Given the description of an element on the screen output the (x, y) to click on. 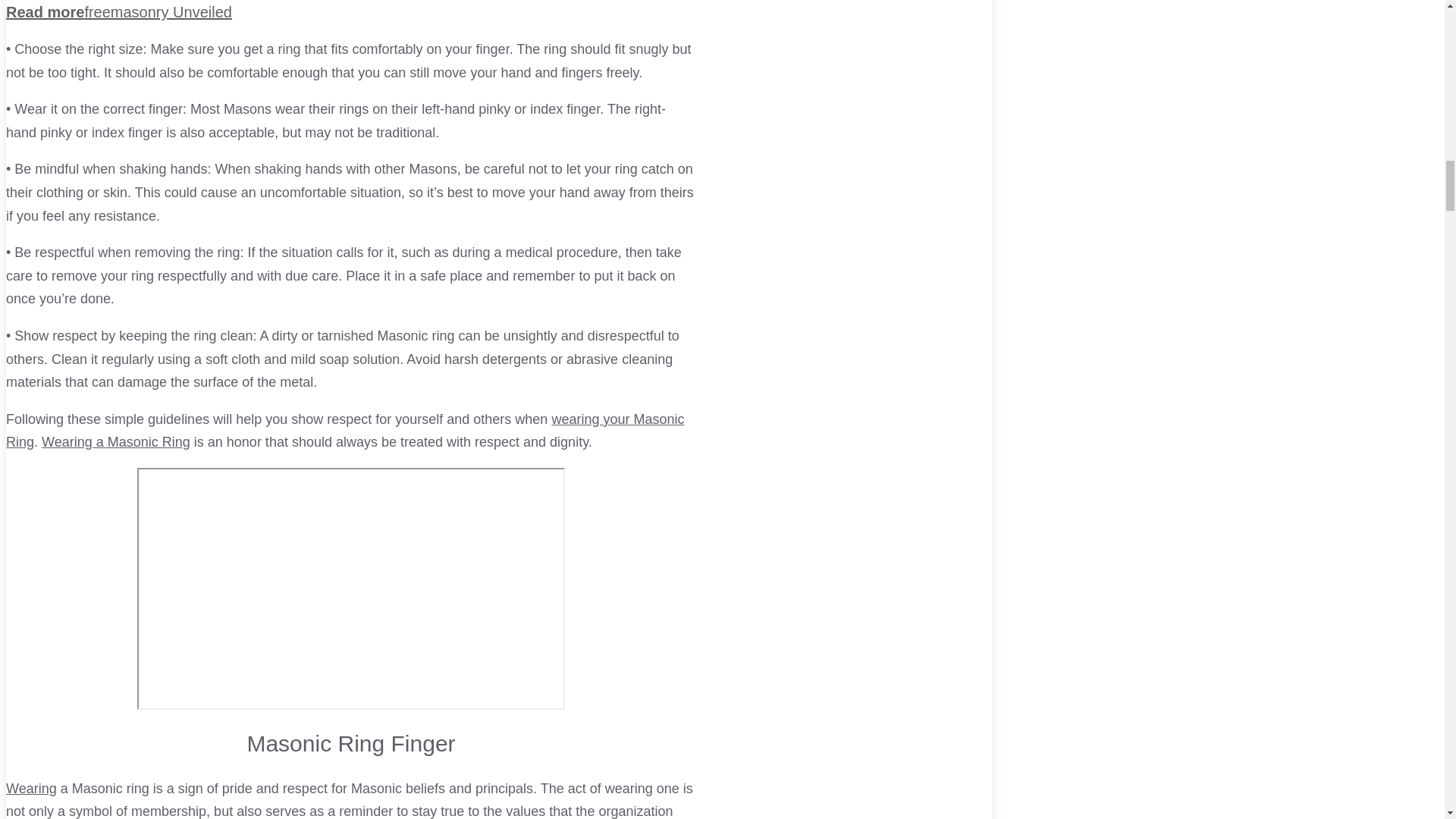
The Free Masons Ring (30, 788)
Wearing a Masonic Ring (116, 441)
Read morefreemasonry Unveiled (350, 12)
wearing your Masonic Ring (344, 430)
YouTube video player (350, 588)
Wearing (30, 788)
How Do You Wear A Masonic Ring (116, 441)
Do You Have To Be A Master Mason To Wear A Masonic Ring (344, 430)
